Given the description of an element on the screen output the (x, y) to click on. 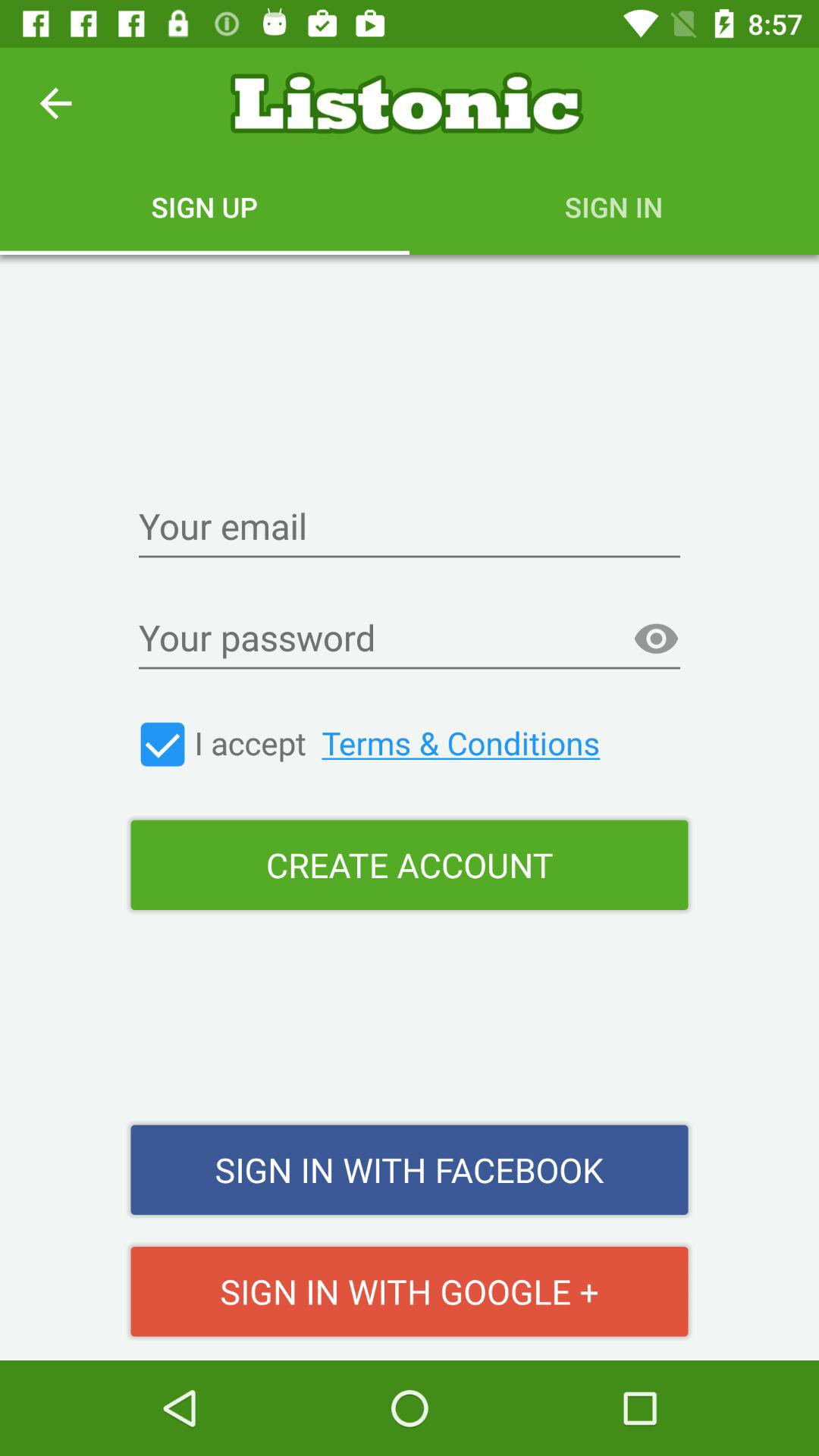
tap create account icon (409, 865)
